Given the description of an element on the screen output the (x, y) to click on. 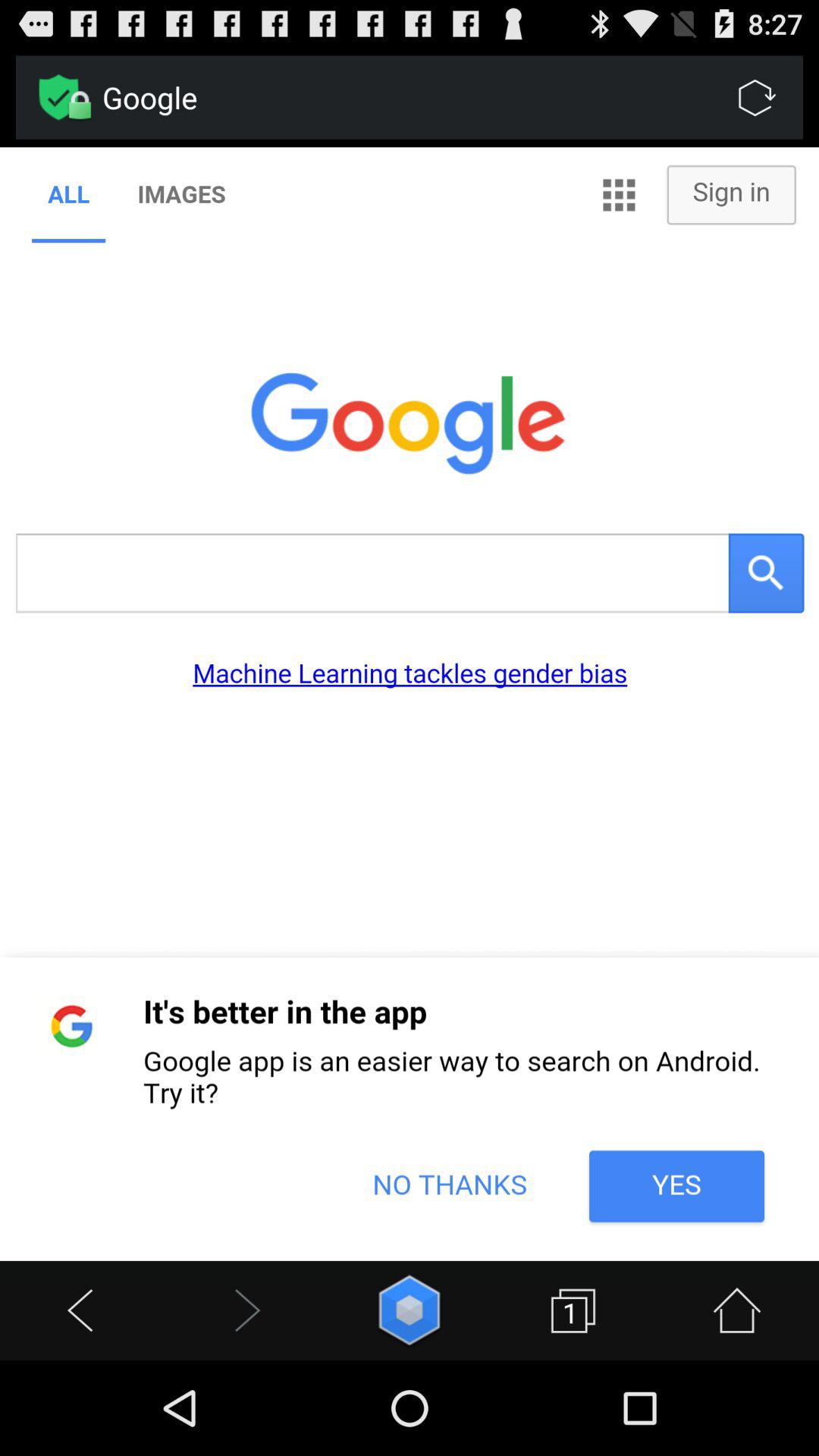
menu (409, 1310)
